Given the description of an element on the screen output the (x, y) to click on. 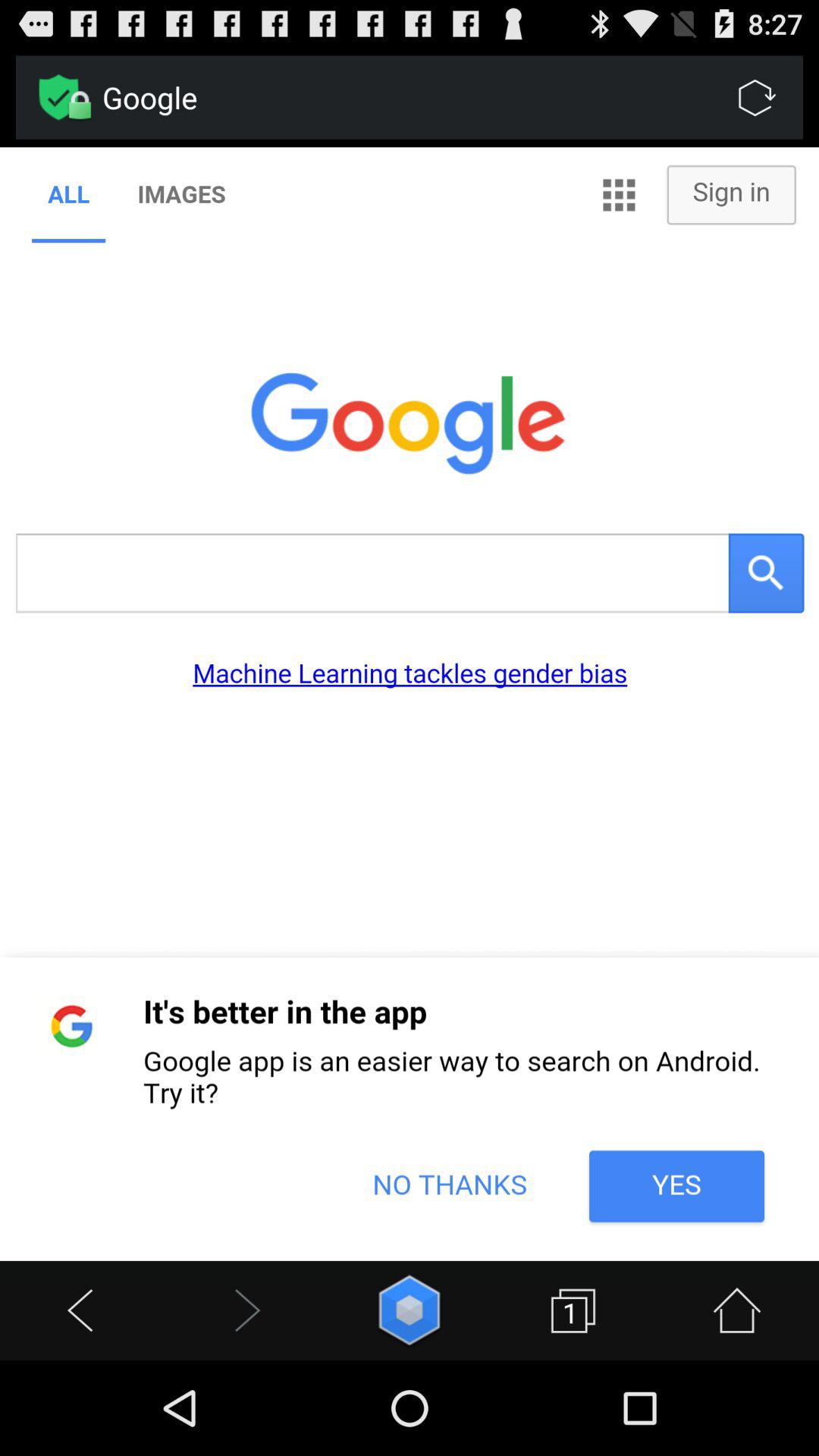
menu (409, 1310)
